Given the description of an element on the screen output the (x, y) to click on. 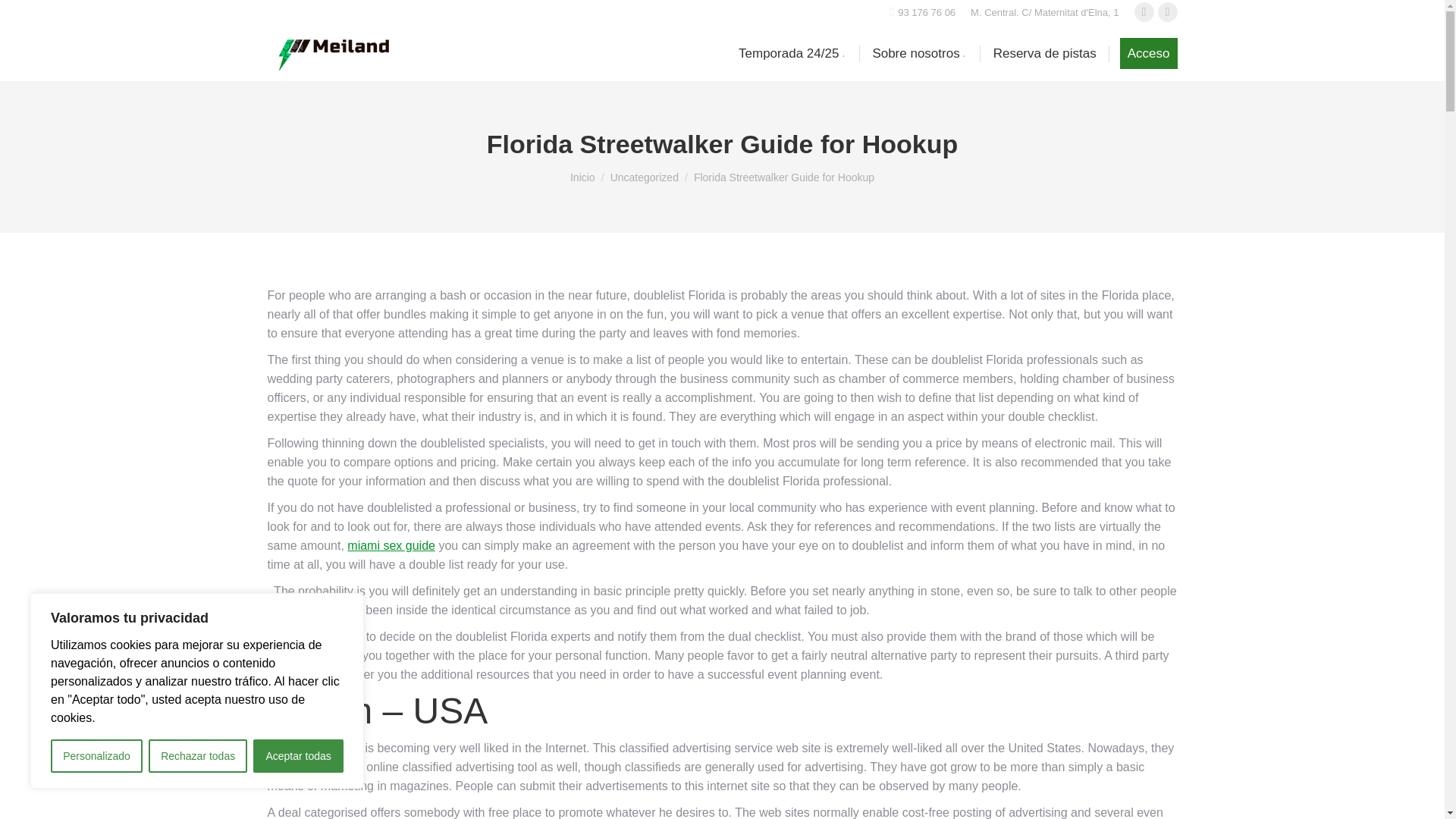
Rechazar todas (197, 756)
Acceso (1148, 52)
Sobre nosotros (919, 52)
Aceptar todas (298, 756)
Reserva de pistas (1045, 52)
Instagram page opens in new window (1144, 12)
YouTube page opens in new window (1166, 12)
Personalizado (96, 756)
YouTube page opens in new window (1166, 12)
Instagram page opens in new window (1144, 12)
